Given the description of an element on the screen output the (x, y) to click on. 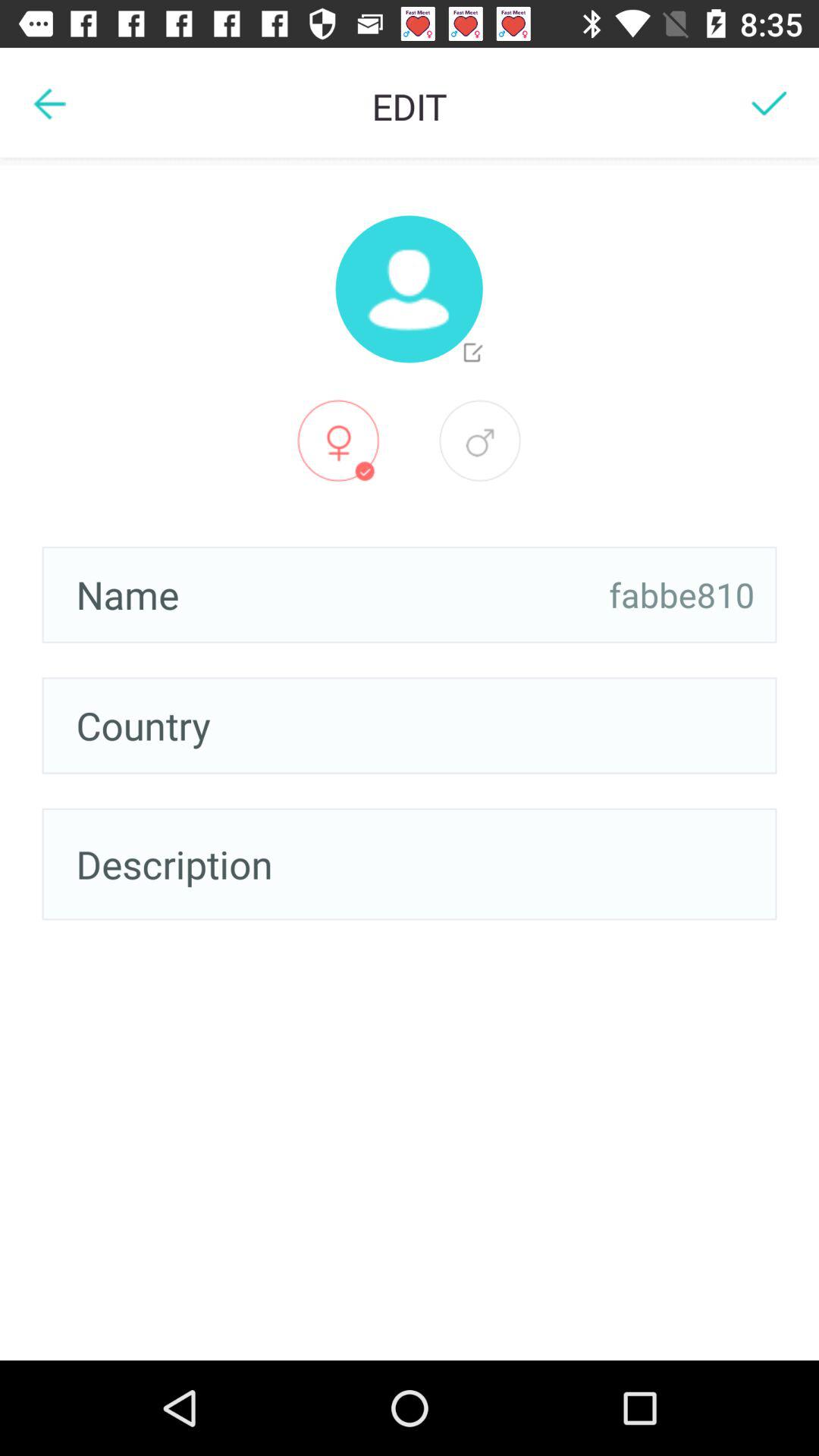
turn off icon to the right of name icon (681, 594)
